Given the description of an element on the screen output the (x, y) to click on. 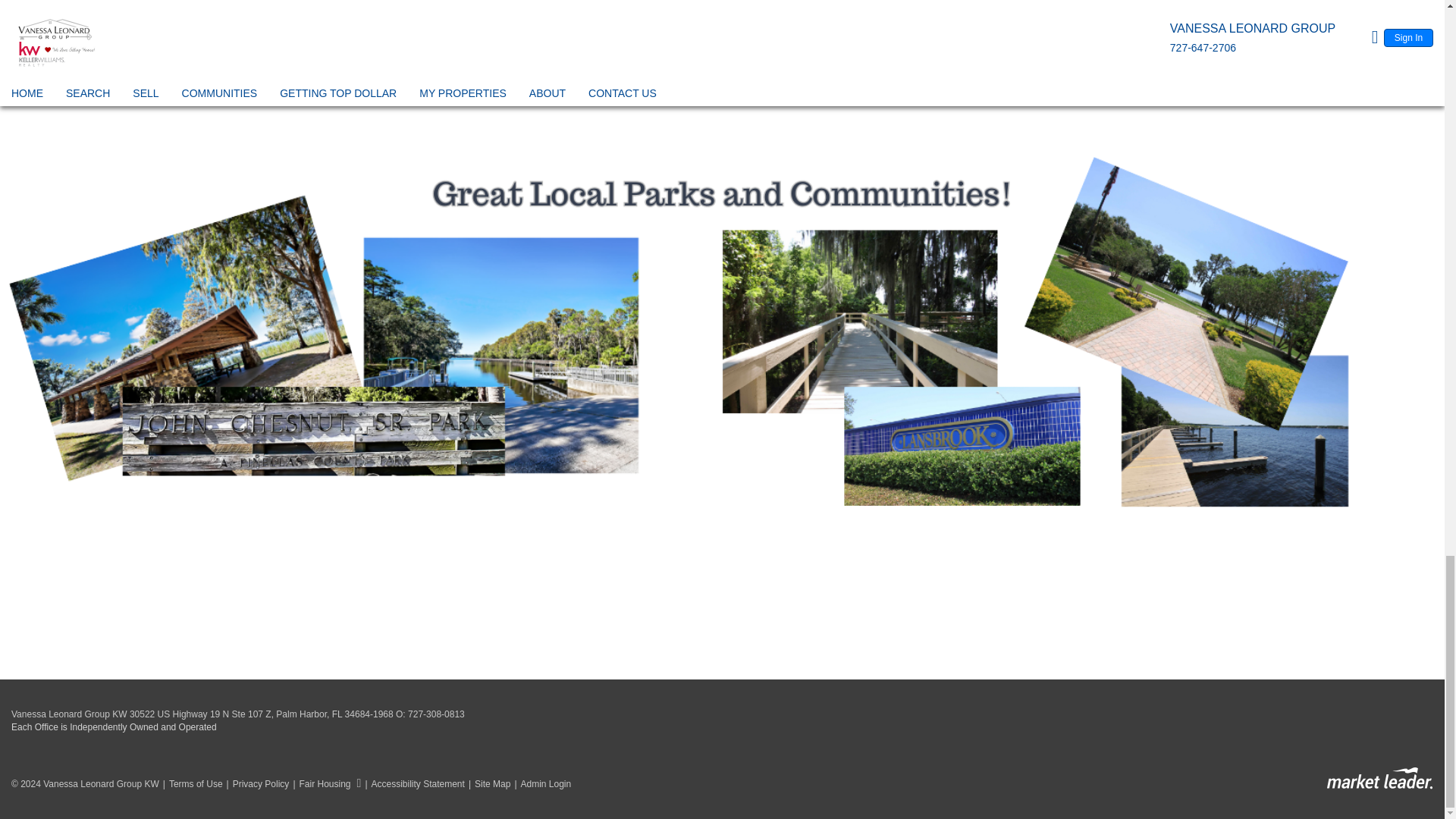
727-308-0813 (435, 714)
Powered By Market Leader (1379, 778)
Privacy Policy (255, 784)
Site Map (487, 784)
Terms of Use (190, 784)
Fair Housing (324, 784)
Accessibility Statement (412, 784)
